Given the description of an element on the screen output the (x, y) to click on. 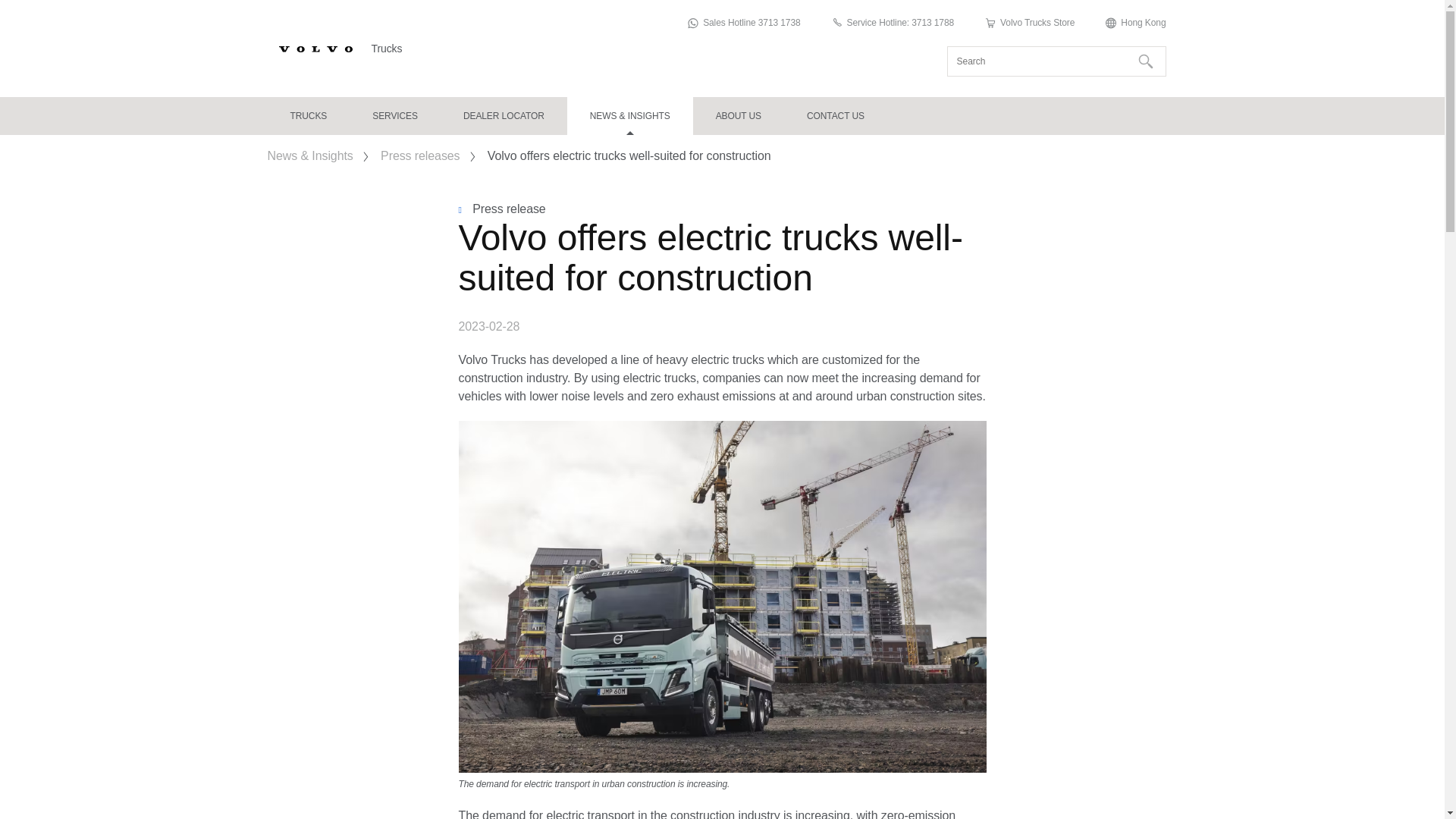
Sales Hotline 3713 1738 (743, 22)
Volvo Trucks Store (1029, 22)
TRUCKS (307, 116)
Trucks (307, 116)
Service Hotline: 3713 1788 (893, 22)
Hong Kong (1135, 22)
